Given the description of an element on the screen output the (x, y) to click on. 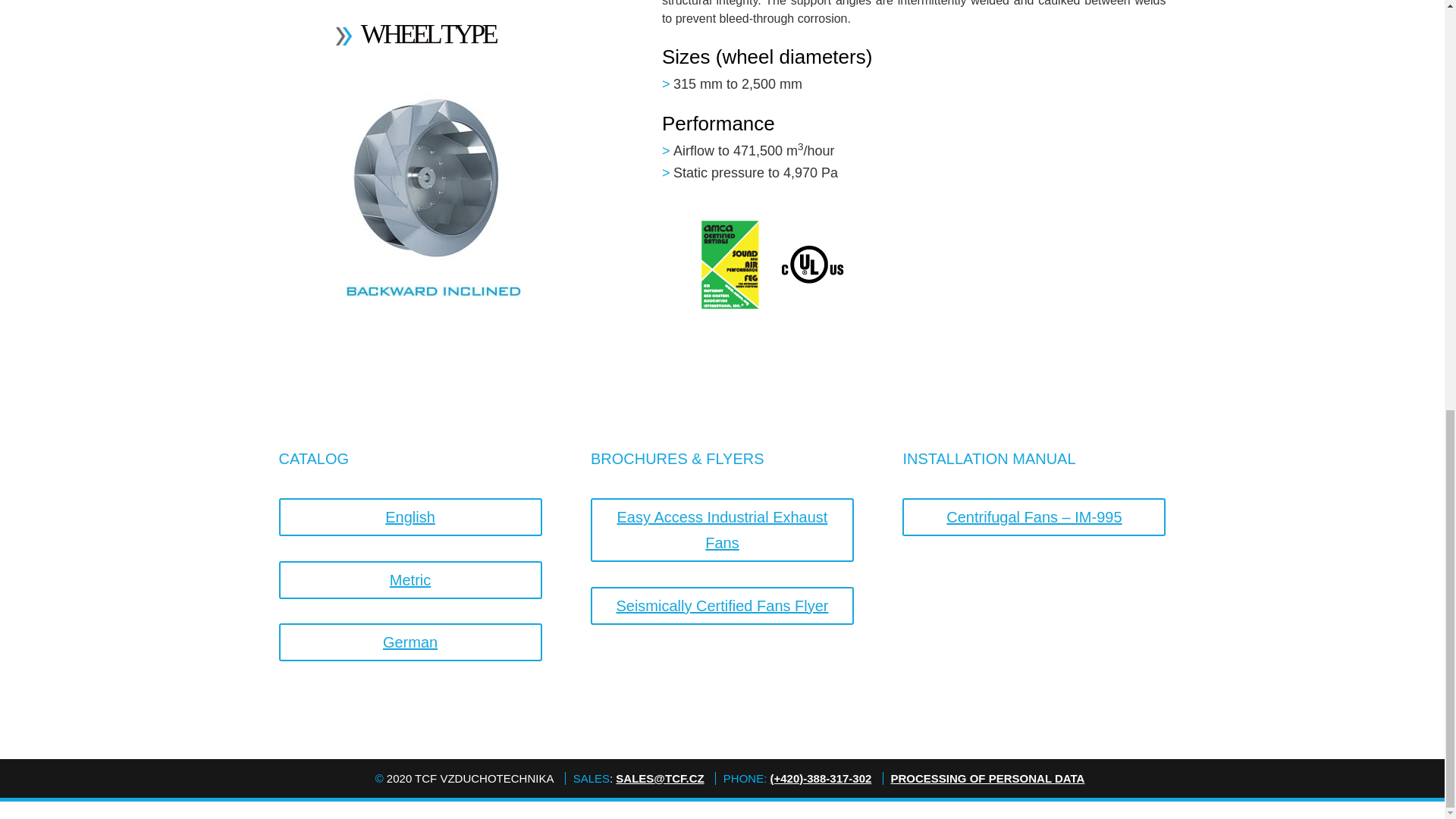
Backward-Inclined-2 (430, 199)
Certs-FEGSA-UL (766, 264)
